Given the description of an element on the screen output the (x, y) to click on. 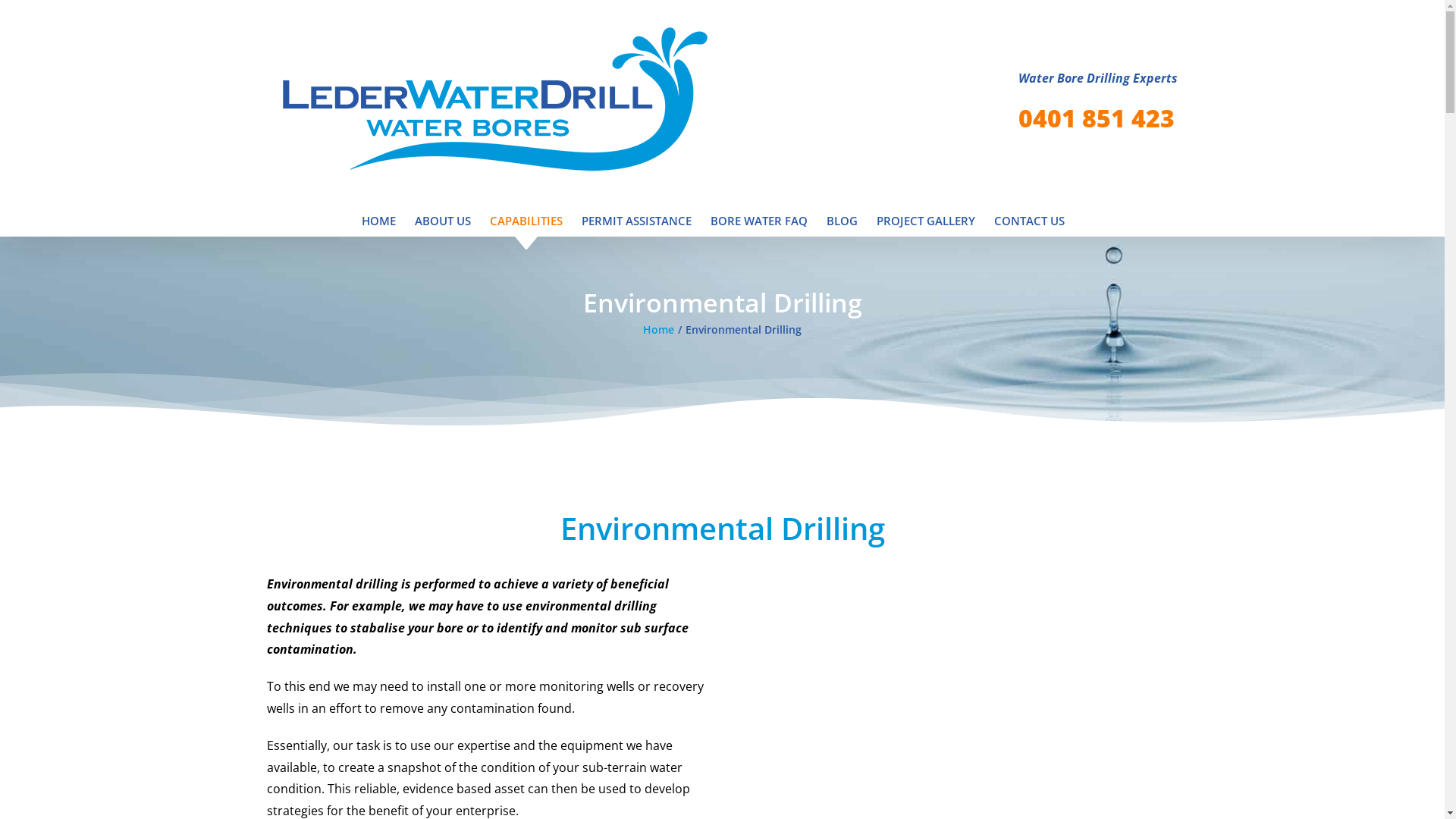
PERMIT ASSISTANCE Element type: text (635, 220)
Home Element type: text (658, 329)
CONTACT US Element type: text (1028, 220)
BLOG Element type: text (841, 220)
HOME Element type: text (377, 220)
BORE WATER FAQ Element type: text (757, 220)
0401 851 423 Element type: text (1095, 117)
PROJECT GALLERY Element type: text (925, 220)
CAPABILITIES Element type: text (525, 220)
ABOUT US Element type: text (442, 220)
